Given the description of an element on the screen output the (x, y) to click on. 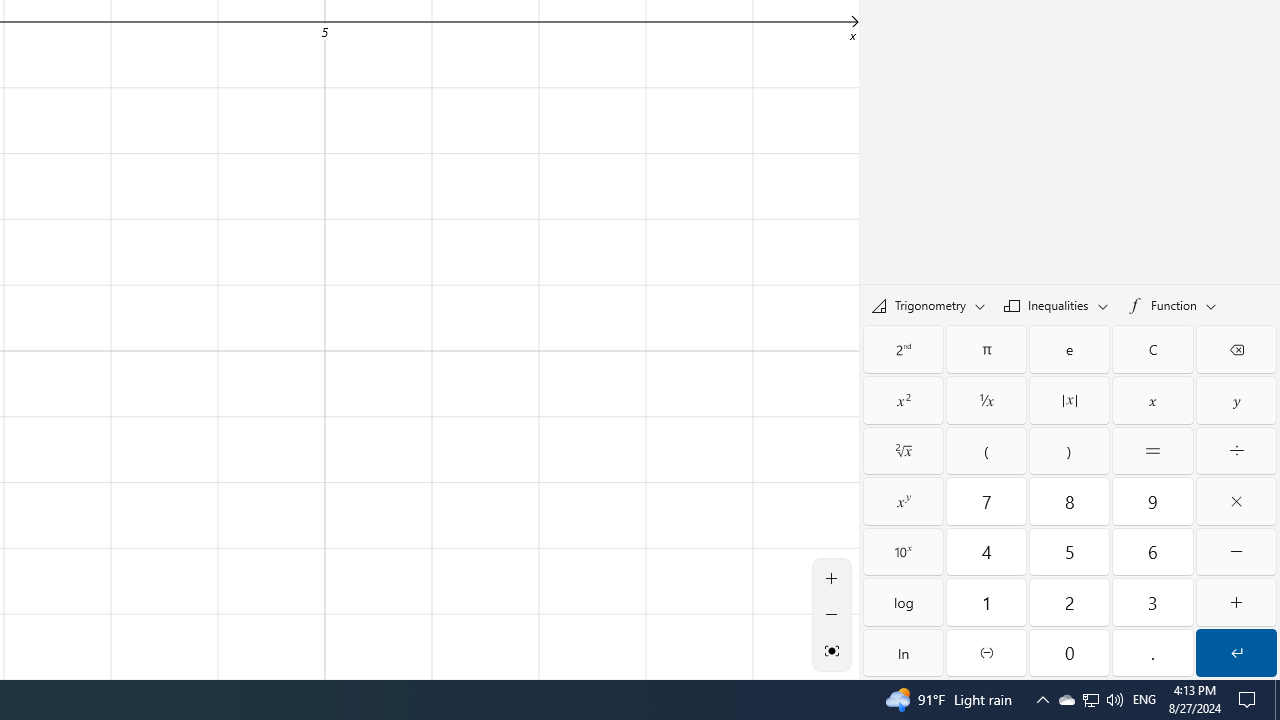
Functions (1171, 304)
X (1153, 399)
Trigonometry (928, 305)
Divide by (1236, 450)
Four (985, 551)
Nine (1153, 501)
Plus (1236, 602)
Backspace (1236, 348)
Eight (1069, 501)
'X' to the exponent (903, 501)
Zoom out (831, 614)
Positive negative (985, 652)
Euler's number (1069, 348)
